Given the description of an element on the screen output the (x, y) to click on. 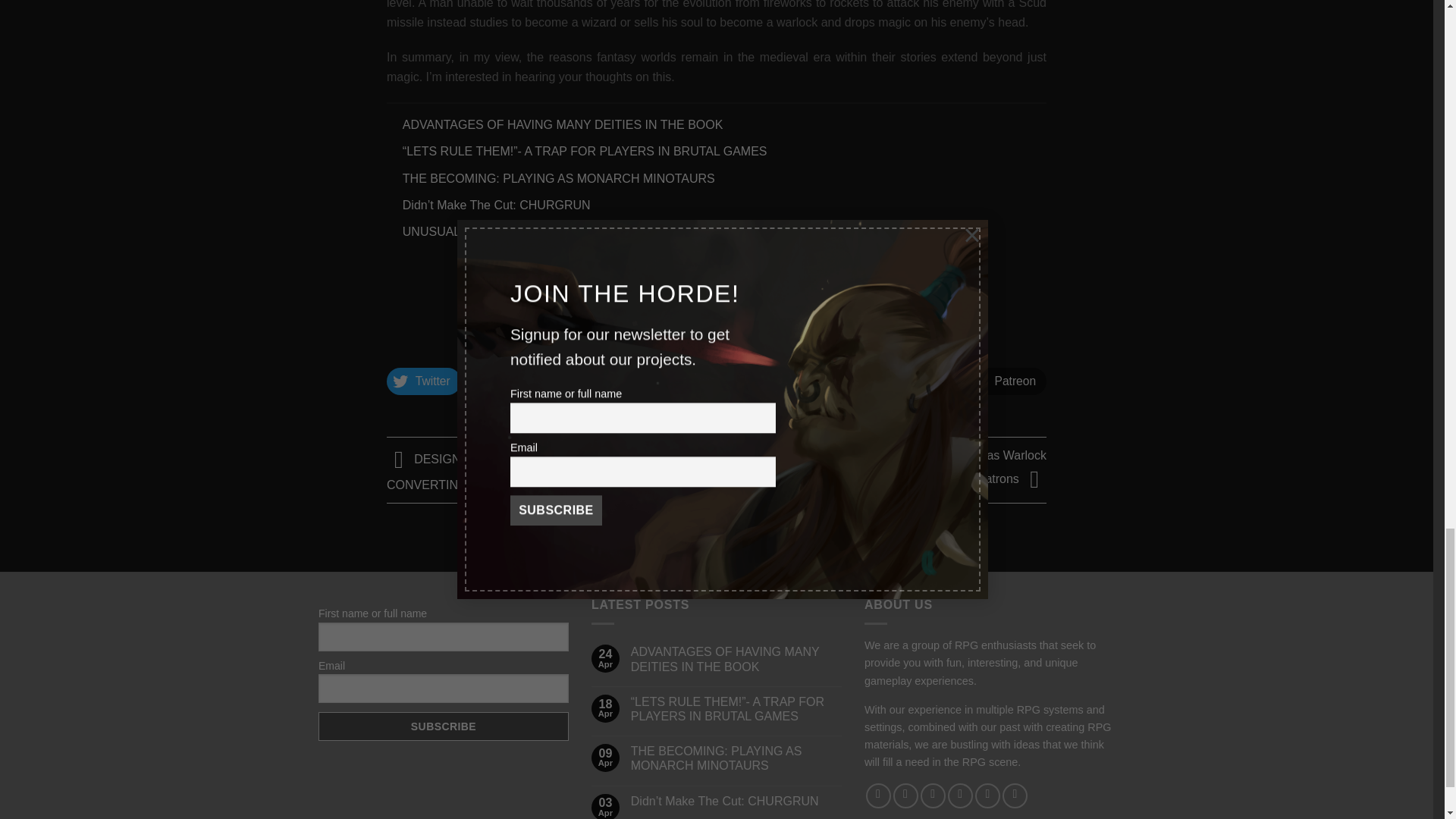
Follow on Facebook (878, 795)
THE BECOMING: PLAYING AS MONARCH MINOTAURS (735, 758)
Subscribe (443, 726)
Subscribe (834, 326)
Twitter (424, 380)
Discord (619, 380)
Subscribe (834, 326)
Twitch (822, 380)
ADVANTAGES OF HAVING MANY DEITIES IN THE BOOK (735, 658)
UNUSUAL PARTNERSHIPS AMONG BRUTAL RACES (551, 231)
Instagram (722, 380)
Follow on Instagram (905, 795)
Patreon (1006, 380)
THE BECOMING: PLAYING AS MONARCH MINOTAURS (558, 177)
Subscribe (443, 726)
